Given the description of an element on the screen output the (x, y) to click on. 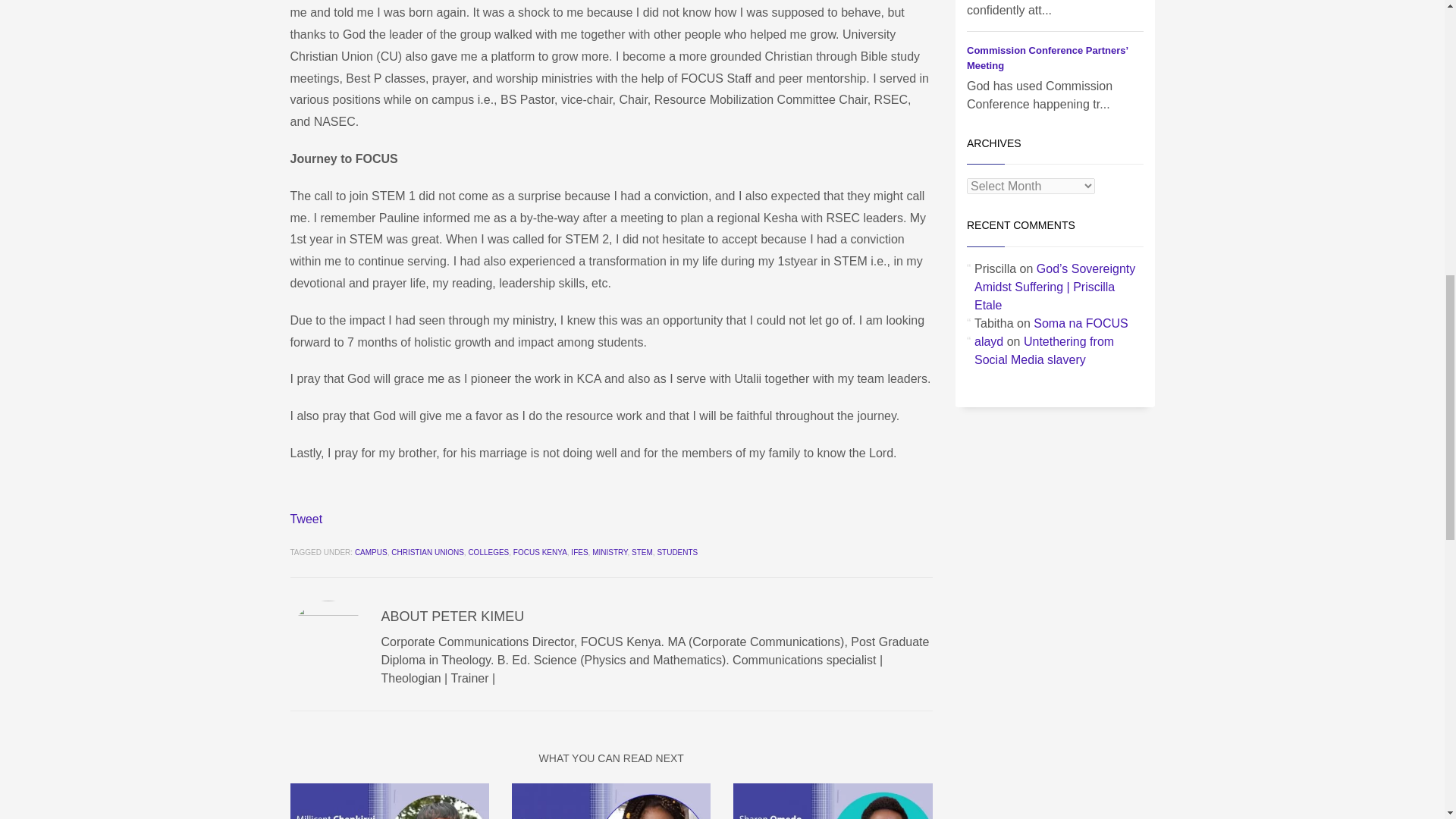
Sharon-Omedo (832, 800)
Lydia-Awour (611, 800)
Milscent (388, 800)
